Given the description of an element on the screen output the (x, y) to click on. 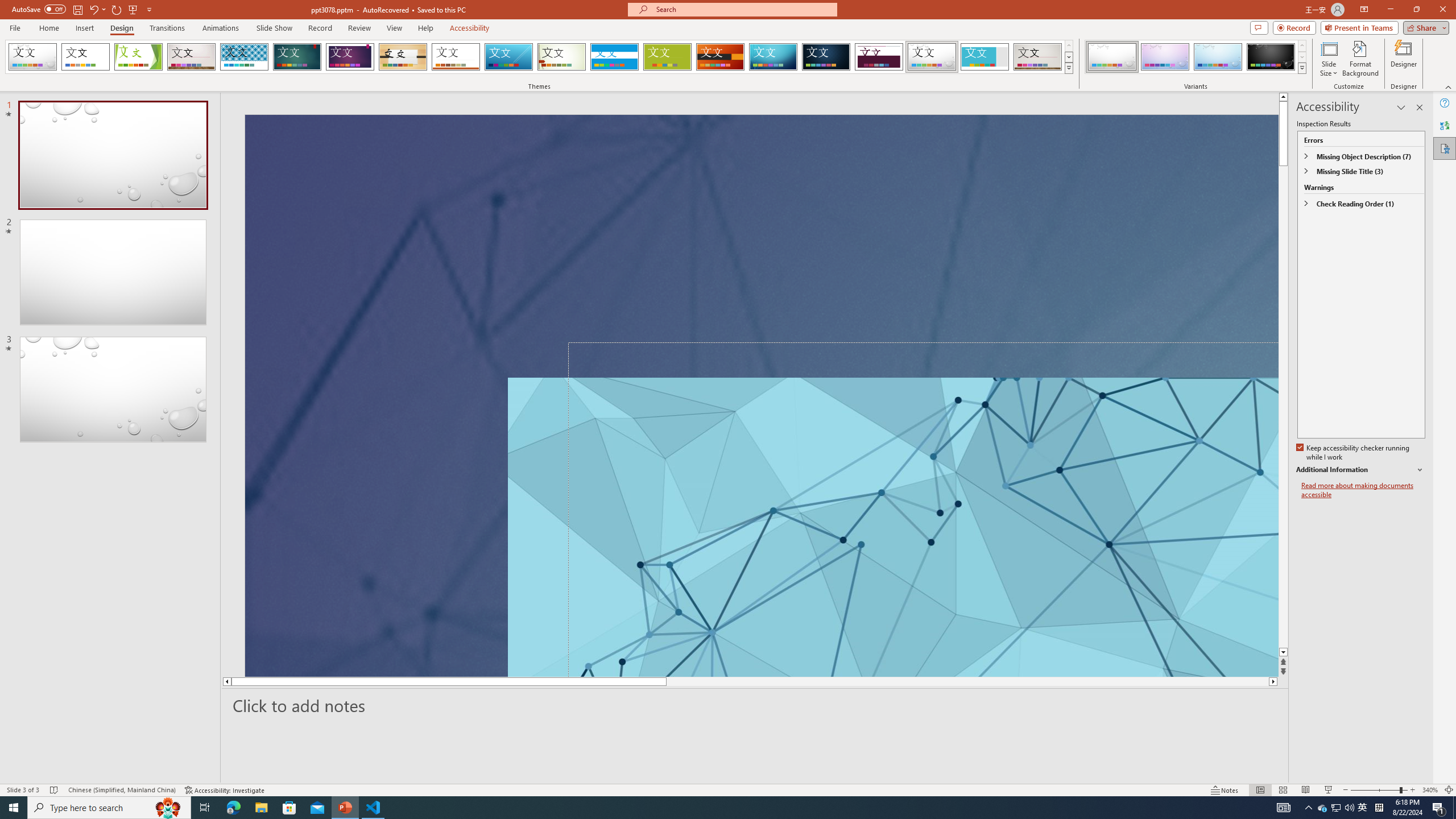
Variants (1301, 67)
Frame (984, 56)
Format Background (1360, 58)
Facet (138, 56)
